Given the description of an element on the screen output the (x, y) to click on. 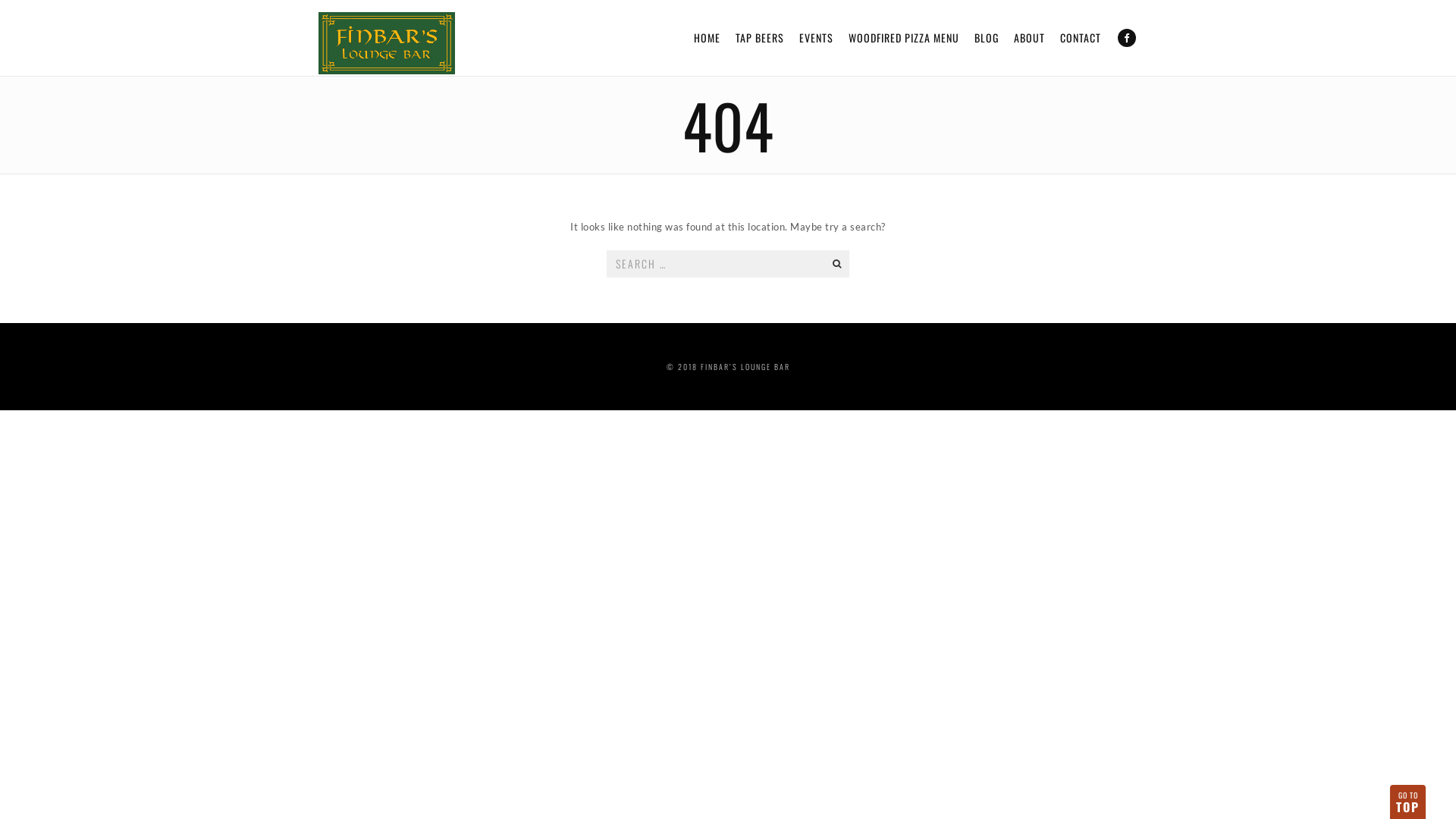
WOODFIRED PIZZA MENU Element type: text (903, 37)
CONTACT Element type: text (1080, 37)
EVENTS Element type: text (816, 37)
HOME Element type: text (706, 37)
BLOG Element type: text (986, 37)
Go Element type: hover (836, 263)
TAP BEERS Element type: text (759, 37)
ABOUT Element type: text (1028, 37)
